Given the description of an element on the screen output the (x, y) to click on. 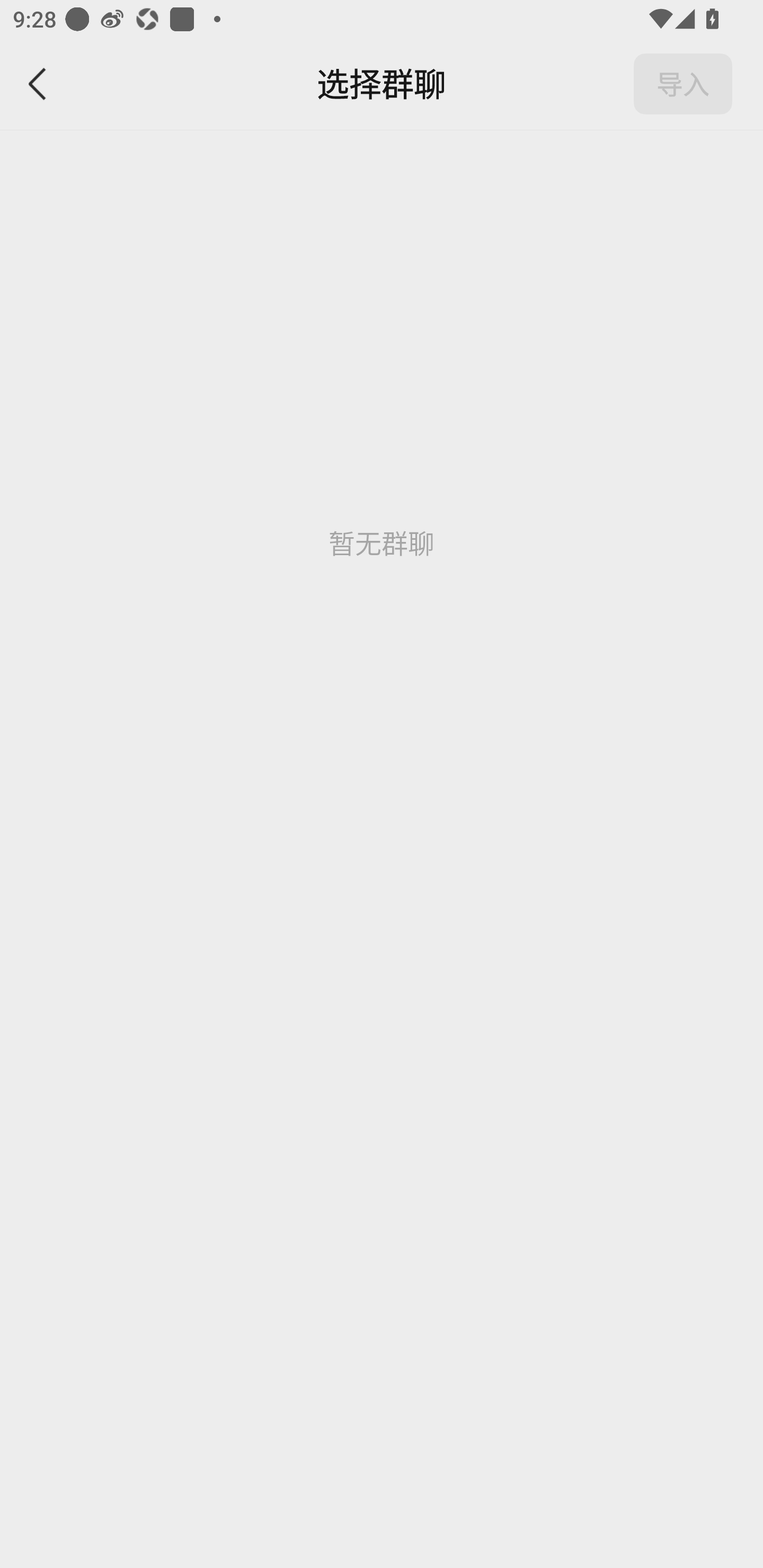
返回 (38, 83)
导入 (683, 83)
